Given the description of an element on the screen output the (x, y) to click on. 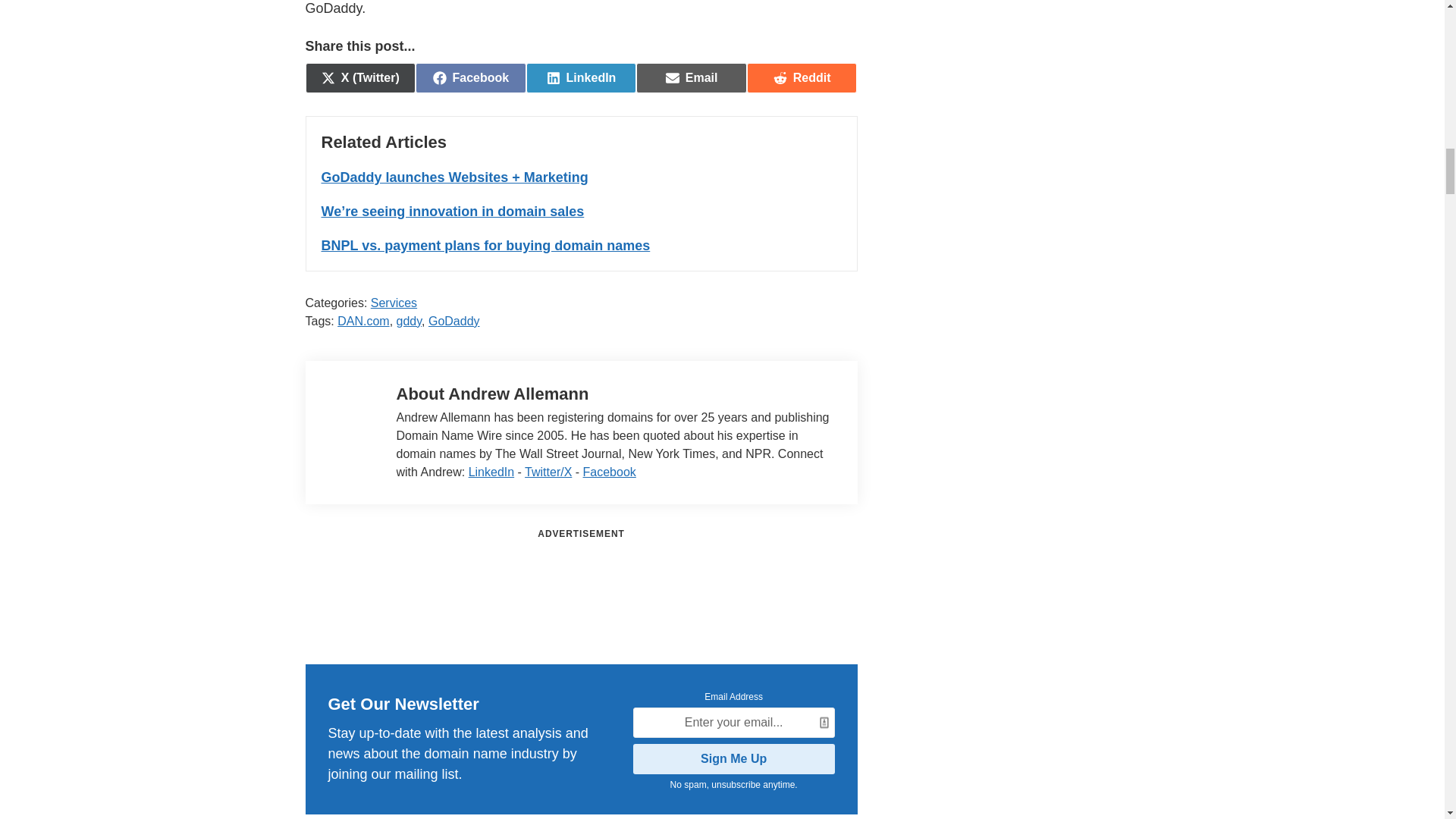
BNPL vs. payment plans for buying domain names (469, 78)
Sign Me Up (581, 78)
